Given the description of an element on the screen output the (x, y) to click on. 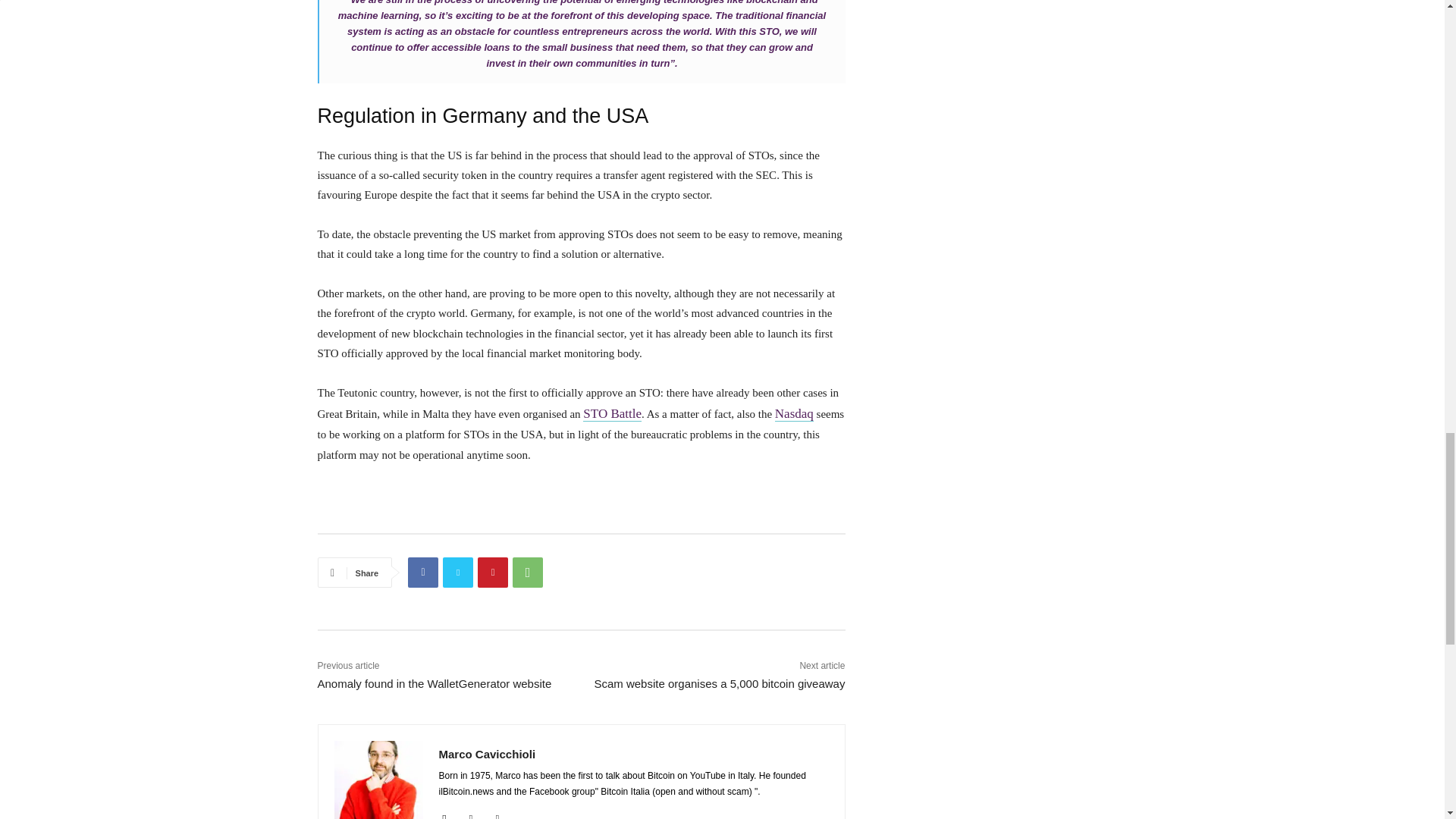
WhatsApp (527, 572)
Twitter (457, 572)
Pinterest (492, 572)
Facebook (422, 572)
